Given the description of an element on the screen output the (x, y) to click on. 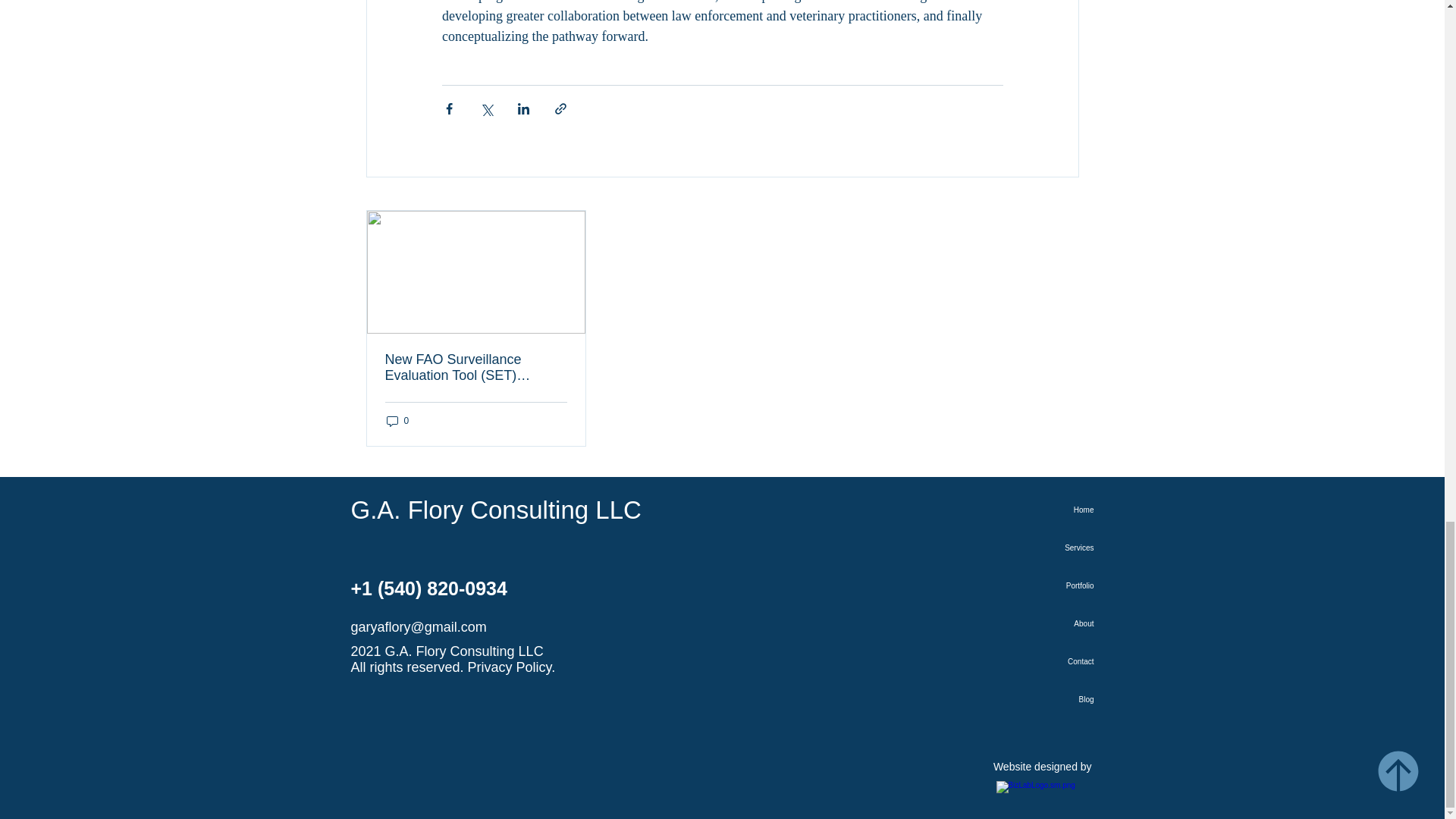
Home (1061, 510)
0 (397, 421)
Portfolio (1061, 586)
Services (1061, 548)
